Given the description of an element on the screen output the (x, y) to click on. 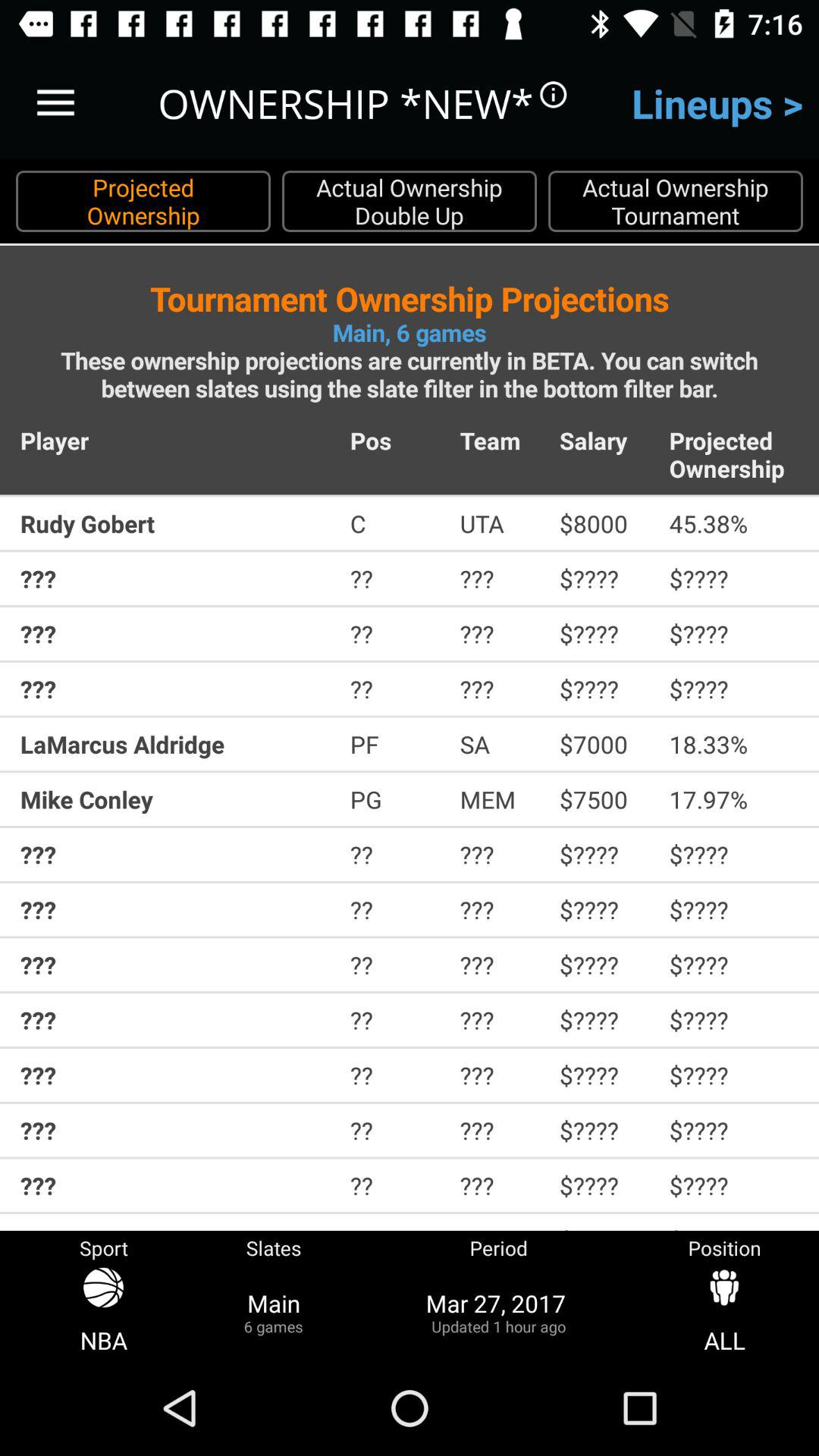
turn off item above the mike conley item (394, 744)
